Given the description of an element on the screen output the (x, y) to click on. 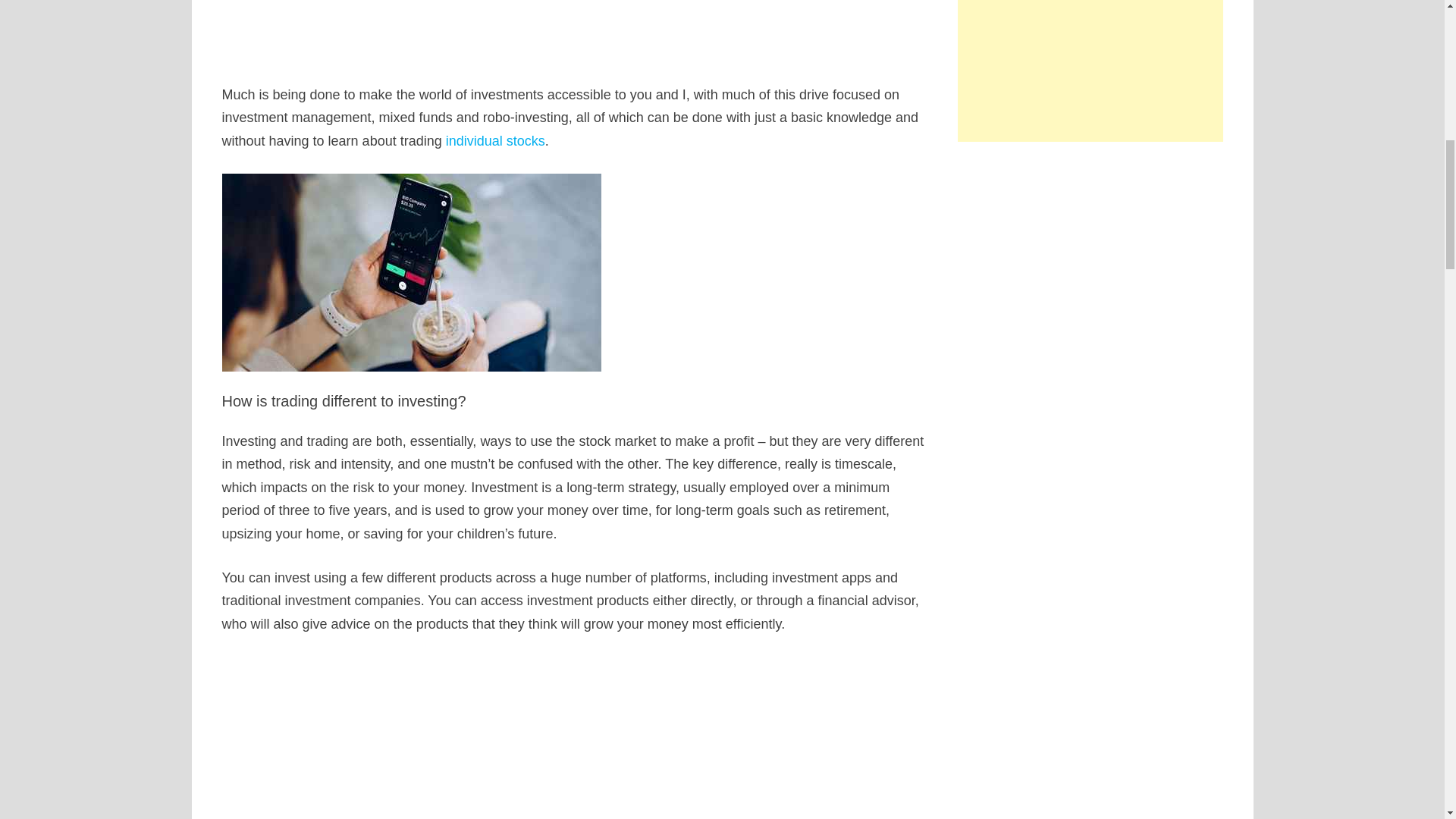
individual stocks (494, 140)
Advertisement (574, 737)
Advertisement (1090, 70)
Advertisement (574, 27)
